Given the description of an element on the screen output the (x, y) to click on. 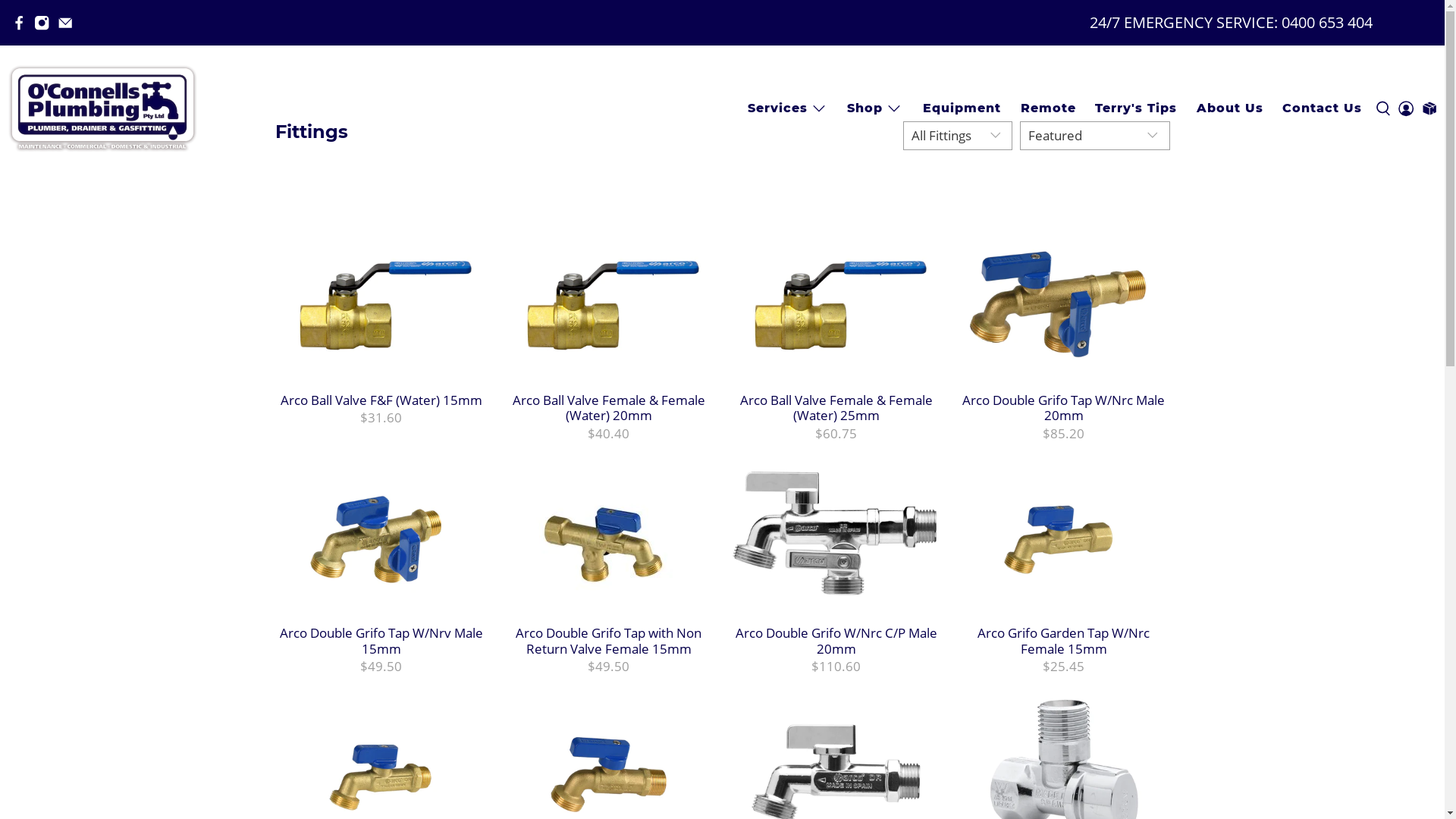
WESTERN SHAMROCK PLUMBING PTY LTD Element type: hover (102, 108)
Shop Element type: text (875, 108)
Equipment Element type: text (961, 108)
Arco Double Grifo Tap W/Nrv Male 15mm Element type: text (381, 639)
WESTERN SHAMROCK PLUMBING PTY LTD on Instagram Element type: hover (41, 22)
Arco Ball Valve Female & Female (Water) 20mm Element type: text (608, 406)
Arco Ball Valve Female & Female (Water) 25mm Element type: text (836, 406)
Email WESTERN SHAMROCK PLUMBING PTY LTD Element type: hover (64, 22)
Arco Double Grifo W/Nrc C/P Male 20mm Element type: text (836, 639)
Arco Double Grifo Tap with Non Return Valve Female 15mm Element type: text (608, 639)
Arco Double Grifo Tap W/Nrc Male 20mm Element type: text (1063, 406)
About Us Element type: text (1229, 108)
Remote Element type: text (1047, 108)
Services Element type: text (787, 108)
Terry's Tips Element type: text (1135, 108)
Arco Ball Valve F&F (Water) 15mm Element type: text (381, 398)
WESTERN SHAMROCK PLUMBING PTY LTD on Facebook Element type: hover (18, 22)
Arco Grifo Garden Tap W/Nrc Female 15mm Element type: text (1063, 639)
Contact Us Element type: text (1321, 108)
